Given the description of an element on the screen output the (x, y) to click on. 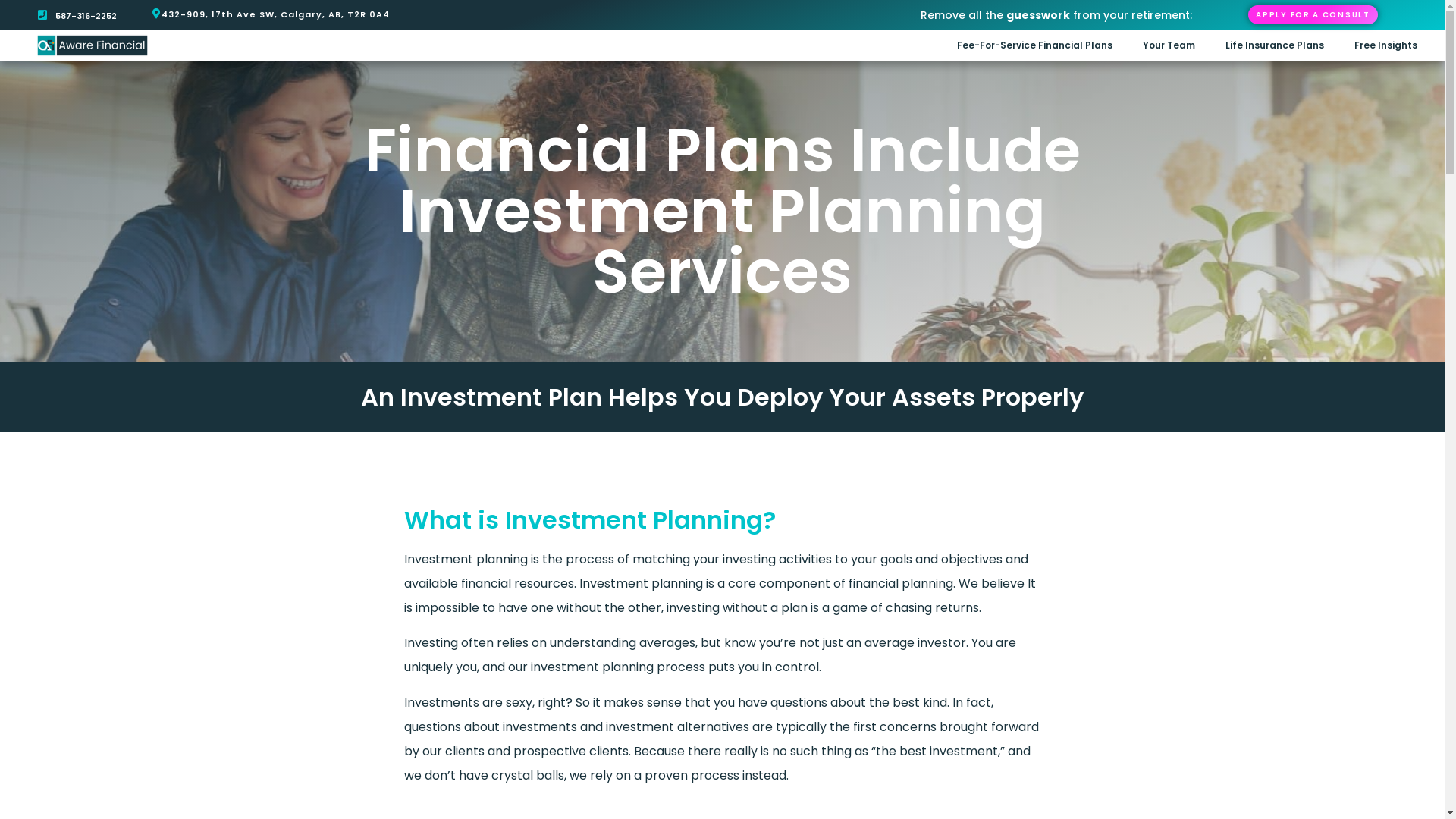
APPLY FOR A CONSULT Element type: text (1312, 14)
Life Insurance Plans Element type: text (1274, 45)
Free Insights Element type: text (1385, 45)
Your Team Element type: text (1168, 45)
Fee-For-Service Financial Plans Element type: text (1034, 45)
